Given the description of an element on the screen output the (x, y) to click on. 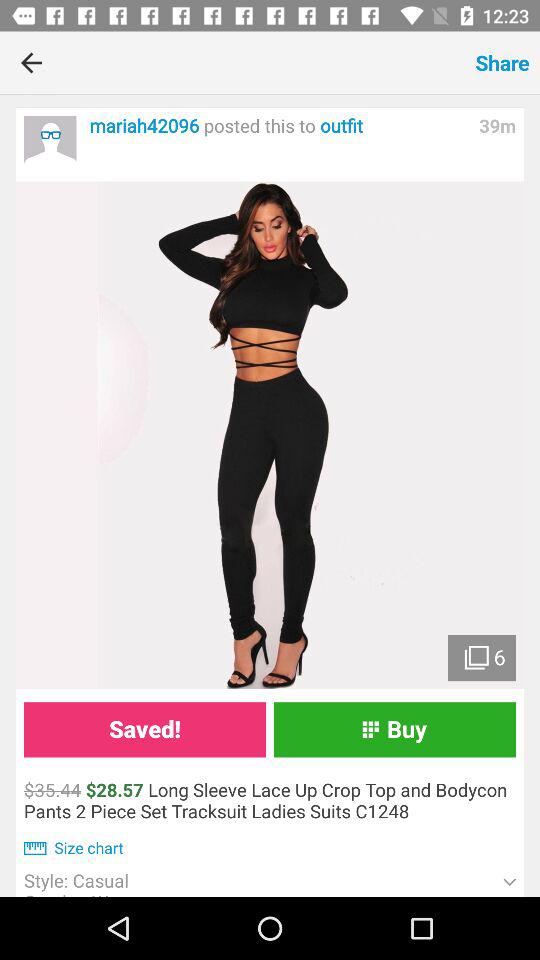
turn on item above saved! item (269, 435)
